Given the description of an element on the screen output the (x, y) to click on. 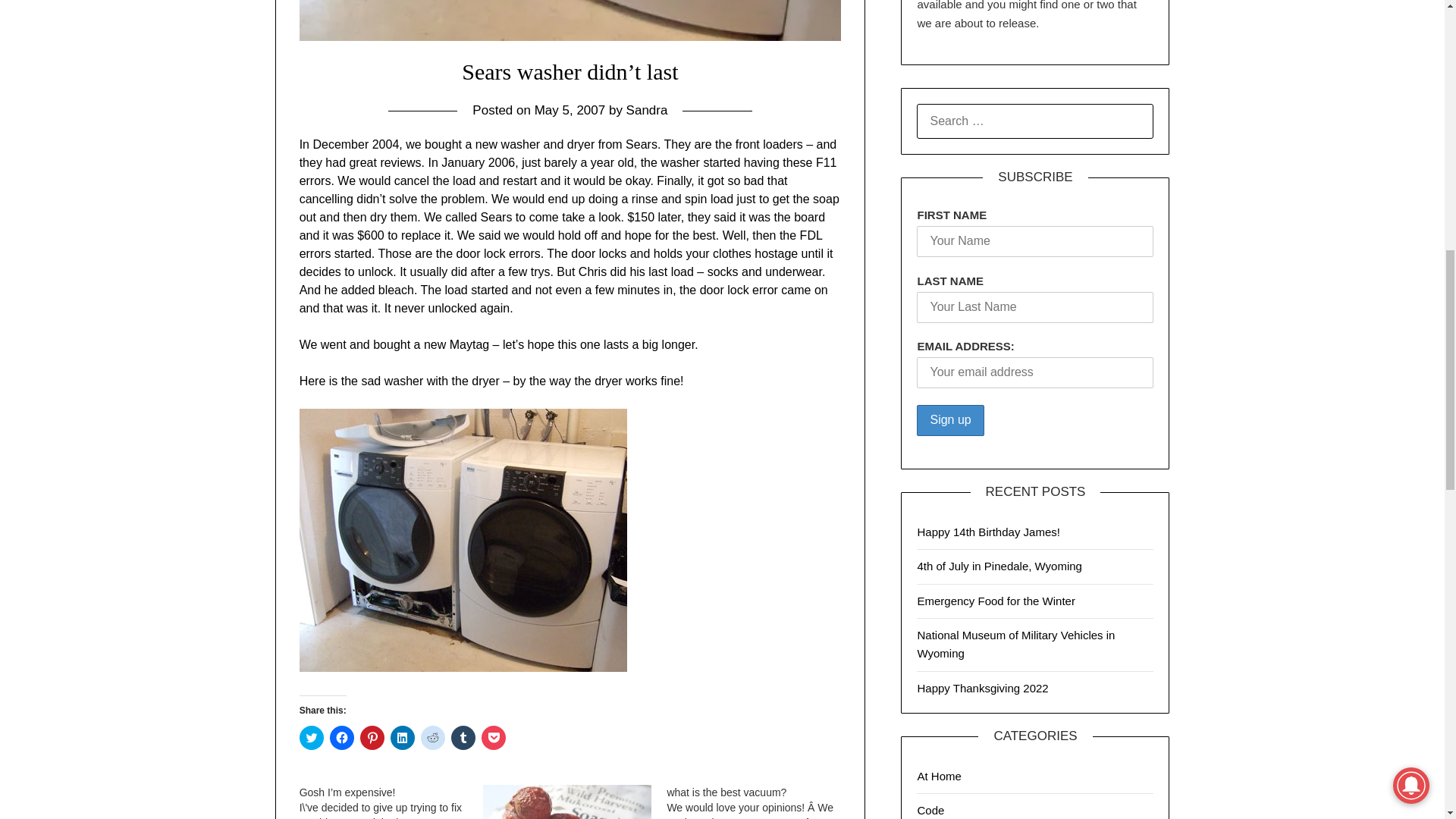
Sign up (950, 419)
Sign up (950, 419)
Click to share on Twitter (311, 737)
4th of July in Pinedale, Wyoming (999, 565)
Soap Nuts Laundry Detergent (566, 801)
Click to share on Pocket (493, 737)
what is the best vacuum? (726, 792)
what is the best vacuum? (758, 801)
Code (930, 809)
Click to share on Pinterest (371, 737)
Sandra (647, 110)
National Museum of Military Vehicles in Wyoming (1016, 644)
Emergency Food for the Winter (995, 600)
Happy Thanksgiving 2022 (982, 687)
May 5, 2007 (569, 110)
